Given the description of an element on the screen output the (x, y) to click on. 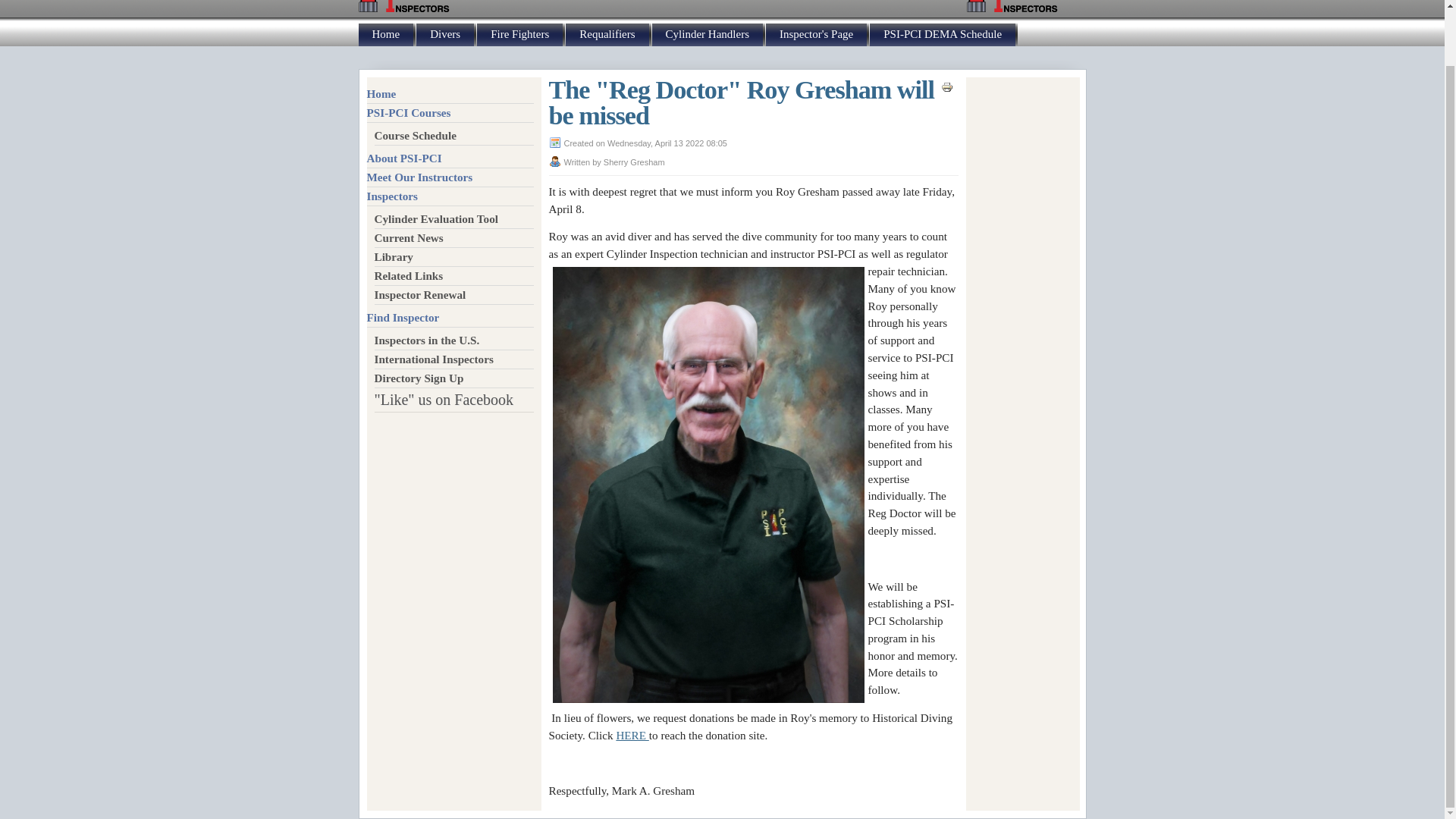
Inspector's Page (815, 34)
HERE (631, 735)
PSI-PCI Courses (450, 113)
Inspectors in the U.S. (454, 340)
Cylinder Evaluation Tool (454, 219)
International Inspectors (454, 359)
Current News (454, 238)
Related Links (454, 275)
Fire Fighters (519, 34)
Inspector Renewal (454, 294)
